Given the description of an element on the screen output the (x, y) to click on. 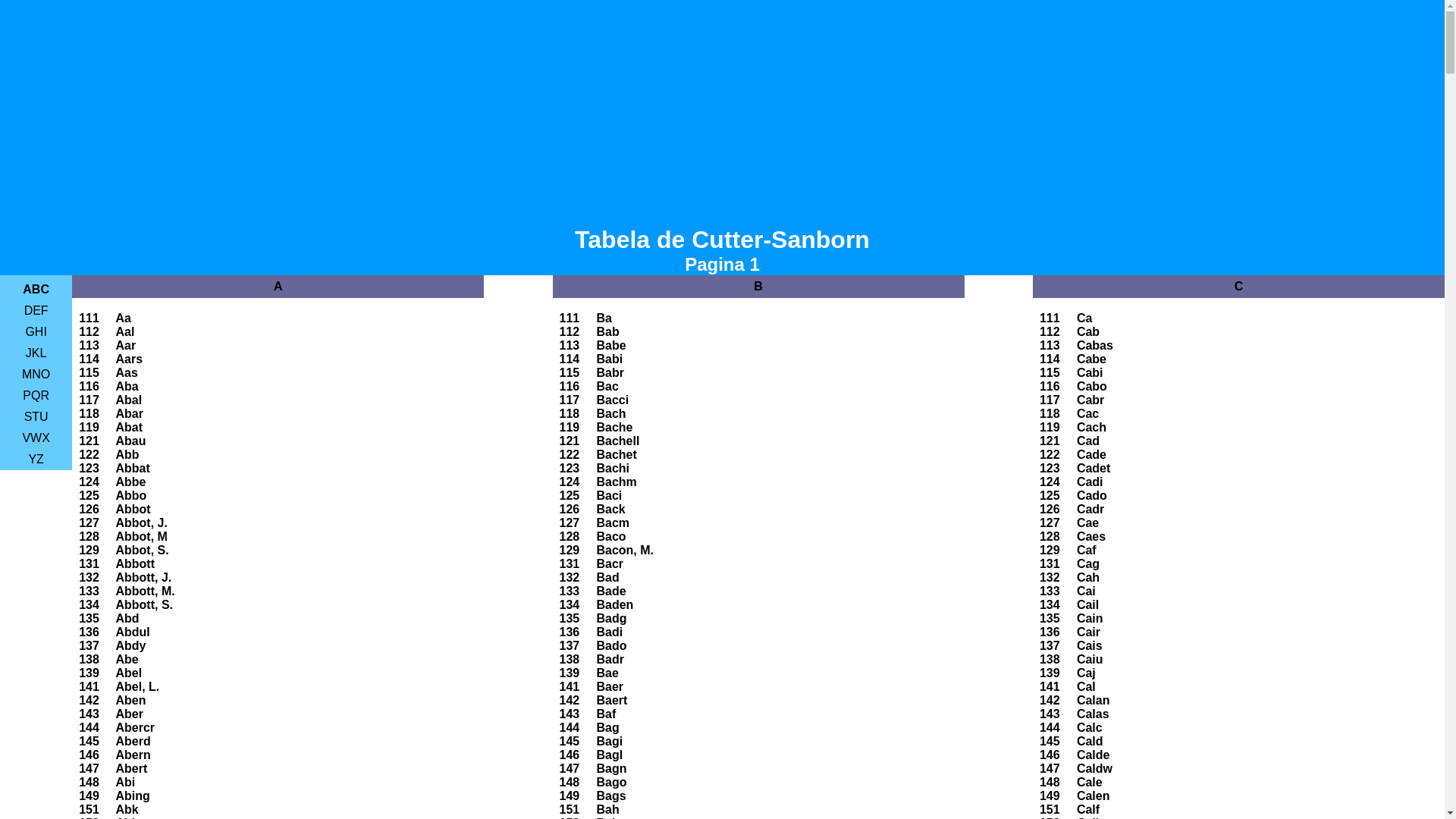
MNO Element type: text (35, 373)
DEF Element type: text (36, 310)
GHI Element type: text (35, 331)
VWX Element type: text (35, 437)
Advertisement Element type: hover (721, 106)
JKL Element type: text (36, 352)
PQR Element type: text (35, 395)
STU Element type: text (36, 416)
YZ Element type: text (35, 458)
